Given the description of an element on the screen output the (x, y) to click on. 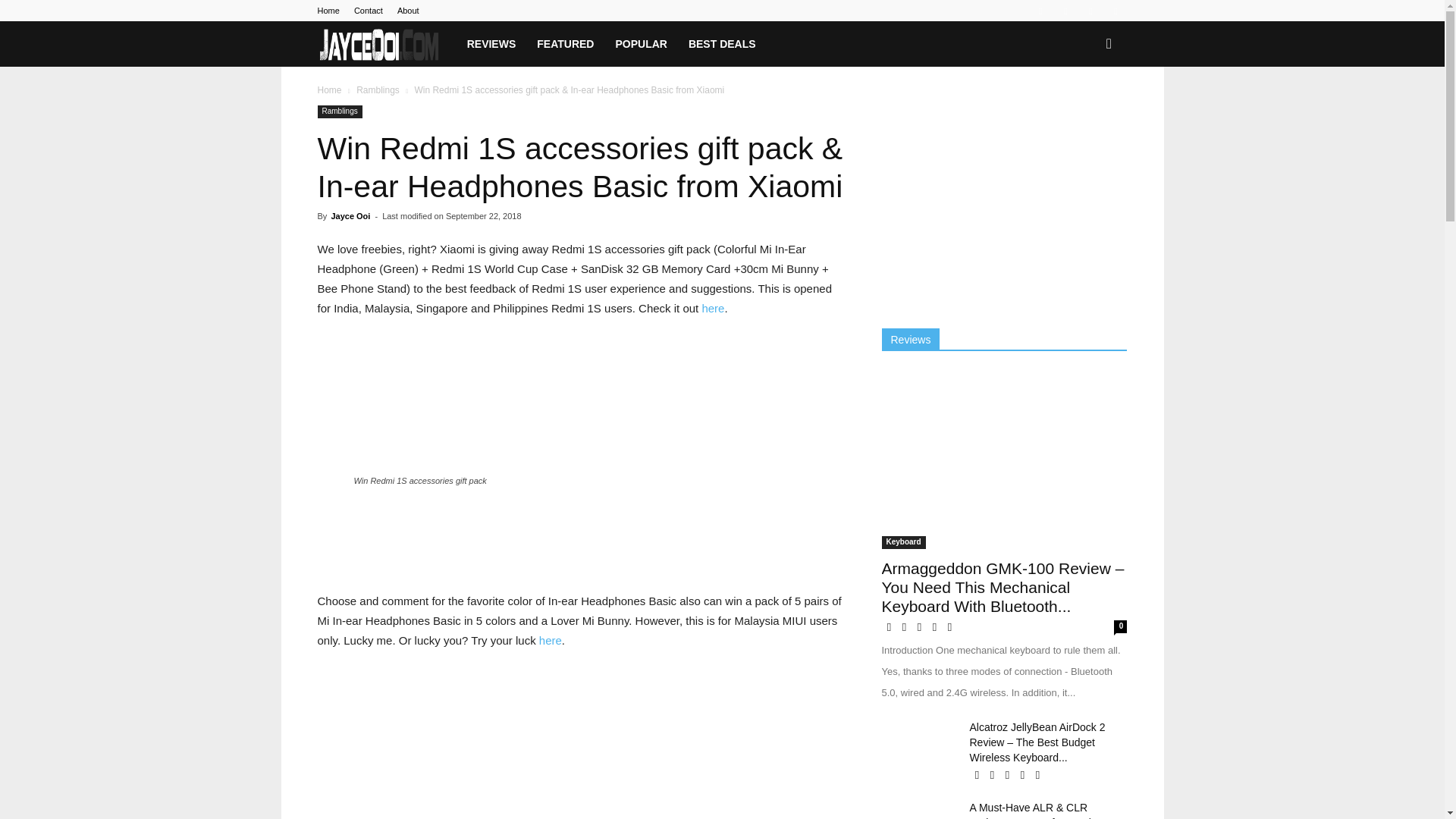
Facebook (1040, 10)
Pinterest (1065, 10)
Youtube (1114, 10)
JayceOoi.com (379, 44)
Twitter (1090, 10)
